Given the description of an element on the screen output the (x, y) to click on. 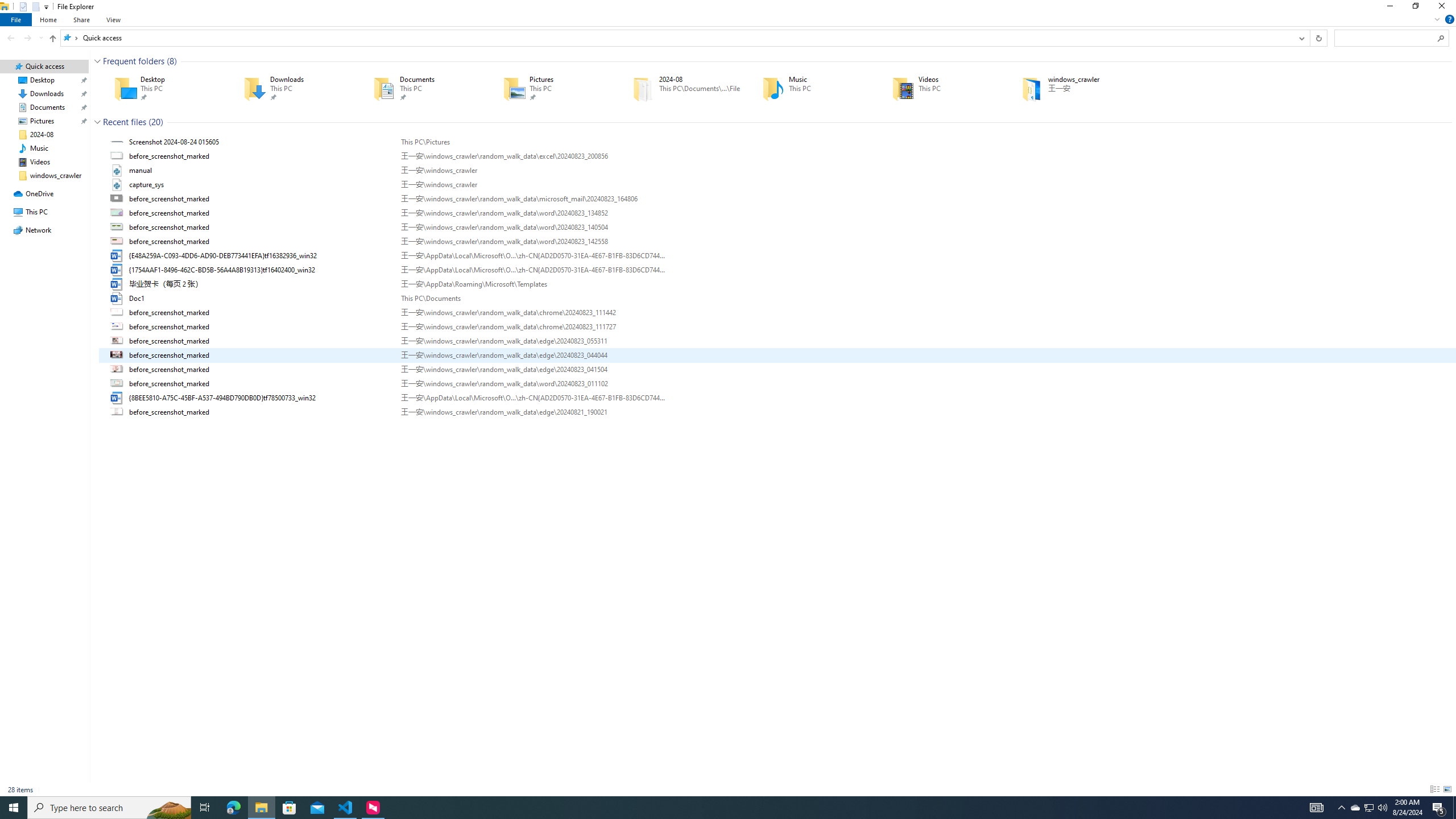
Desktop (162, 88)
Minimize the Ribbon (1436, 19)
All locations (70, 37)
Search Box (1386, 37)
capture_sys (777, 184)
Back (Alt + Left Arrow) (10, 37)
Details (1434, 789)
Downloads (292, 88)
Quick Access Toolbar (29, 6)
Up band toolbar (52, 39)
Share (81, 19)
Navigation buttons (24, 37)
